Given the description of an element on the screen output the (x, y) to click on. 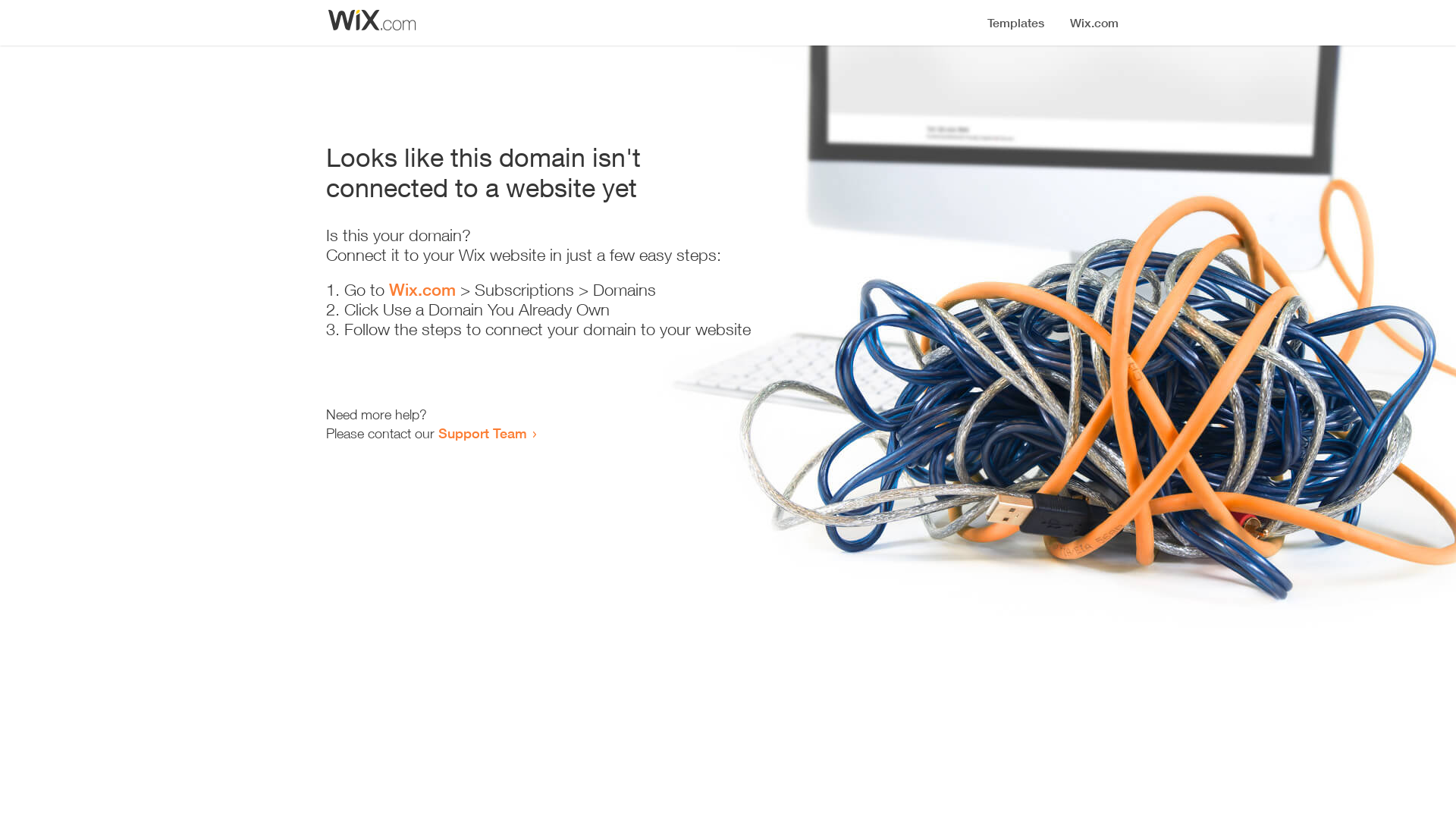
Wix.com Element type: text (422, 289)
Support Team Element type: text (482, 432)
